Given the description of an element on the screen output the (x, y) to click on. 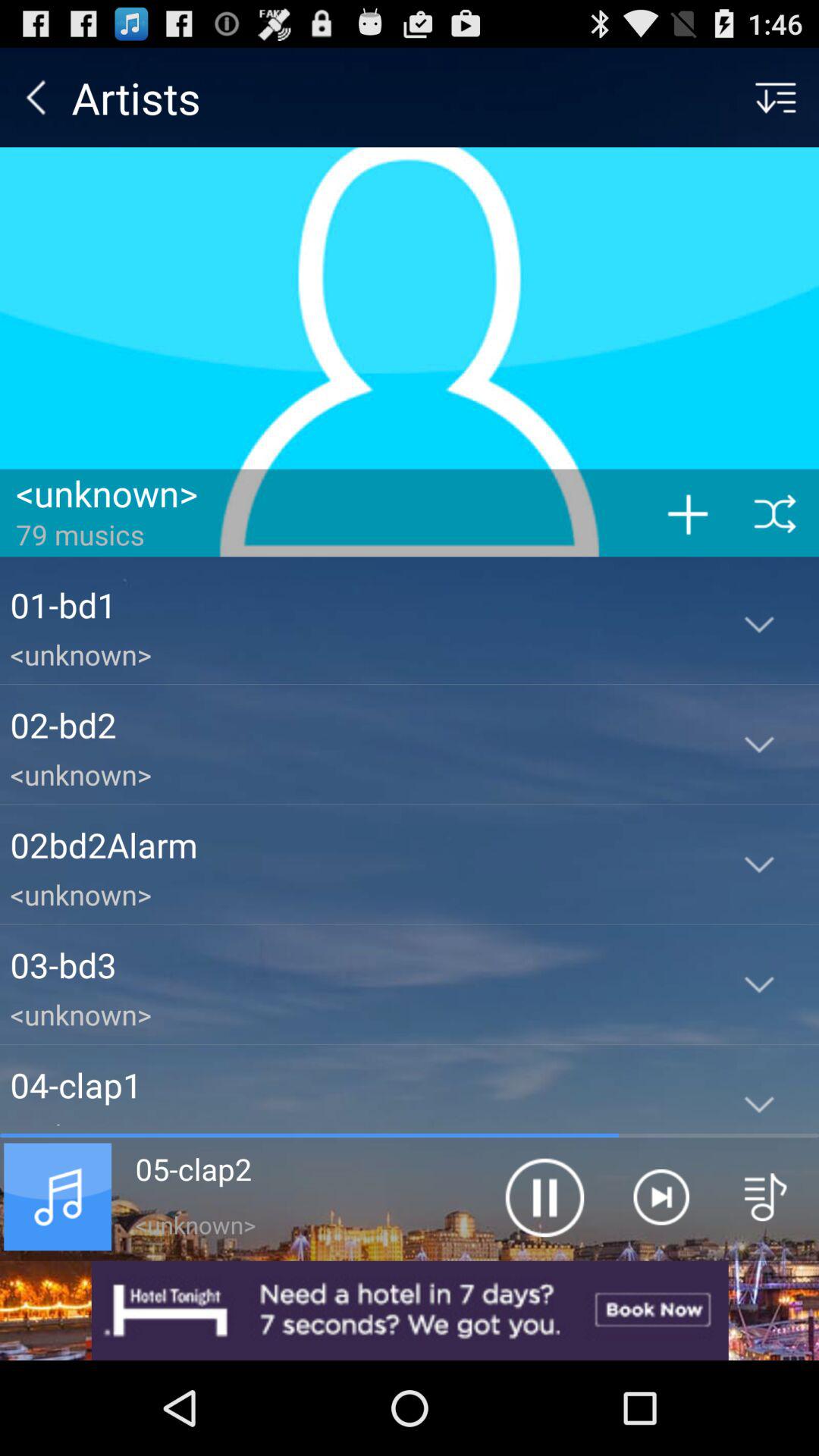
open the 04-clap1 app (354, 1084)
